Given the description of an element on the screen output the (x, y) to click on. 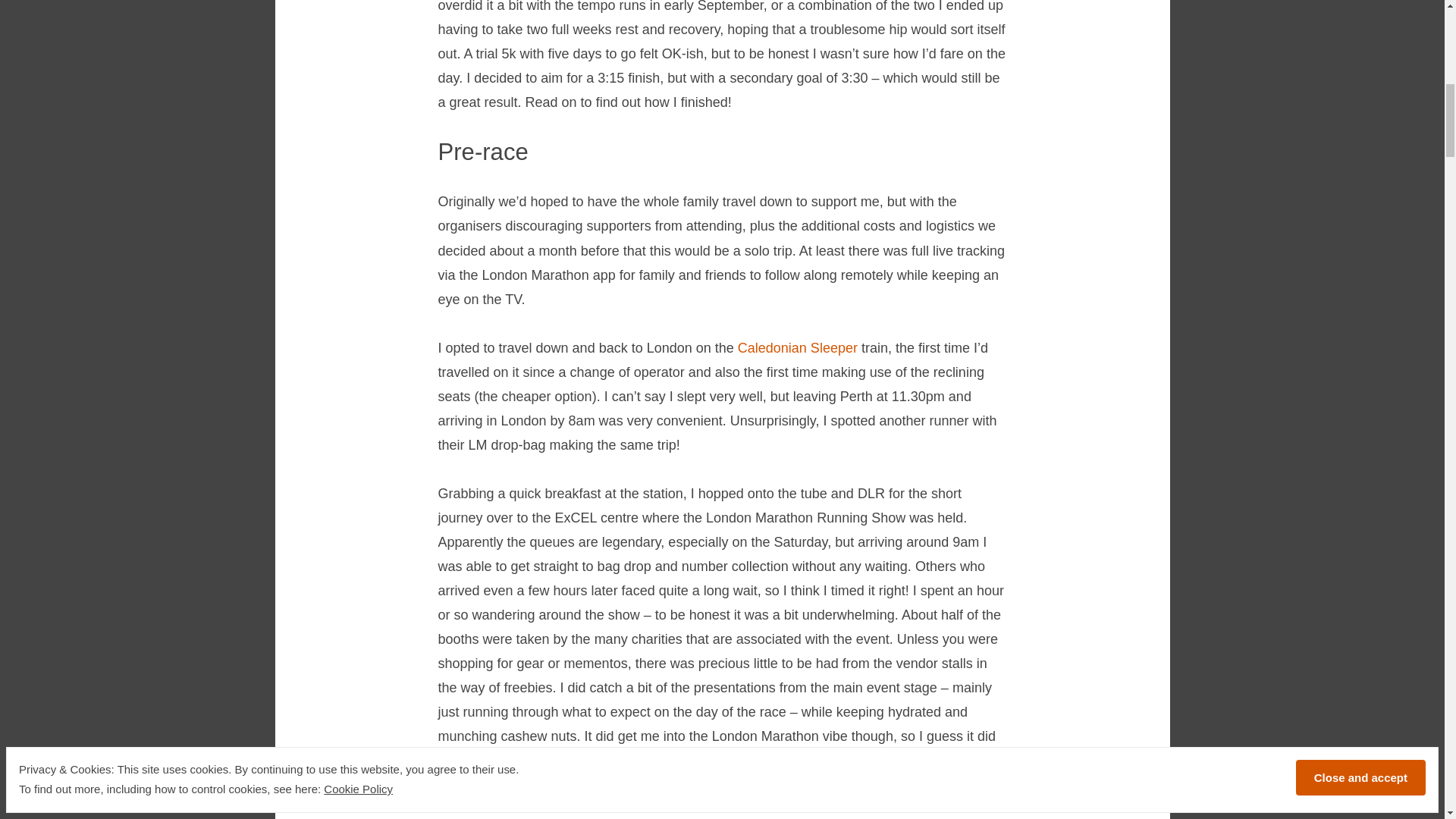
Caledonian Sleeper (797, 347)
